Given the description of an element on the screen output the (x, y) to click on. 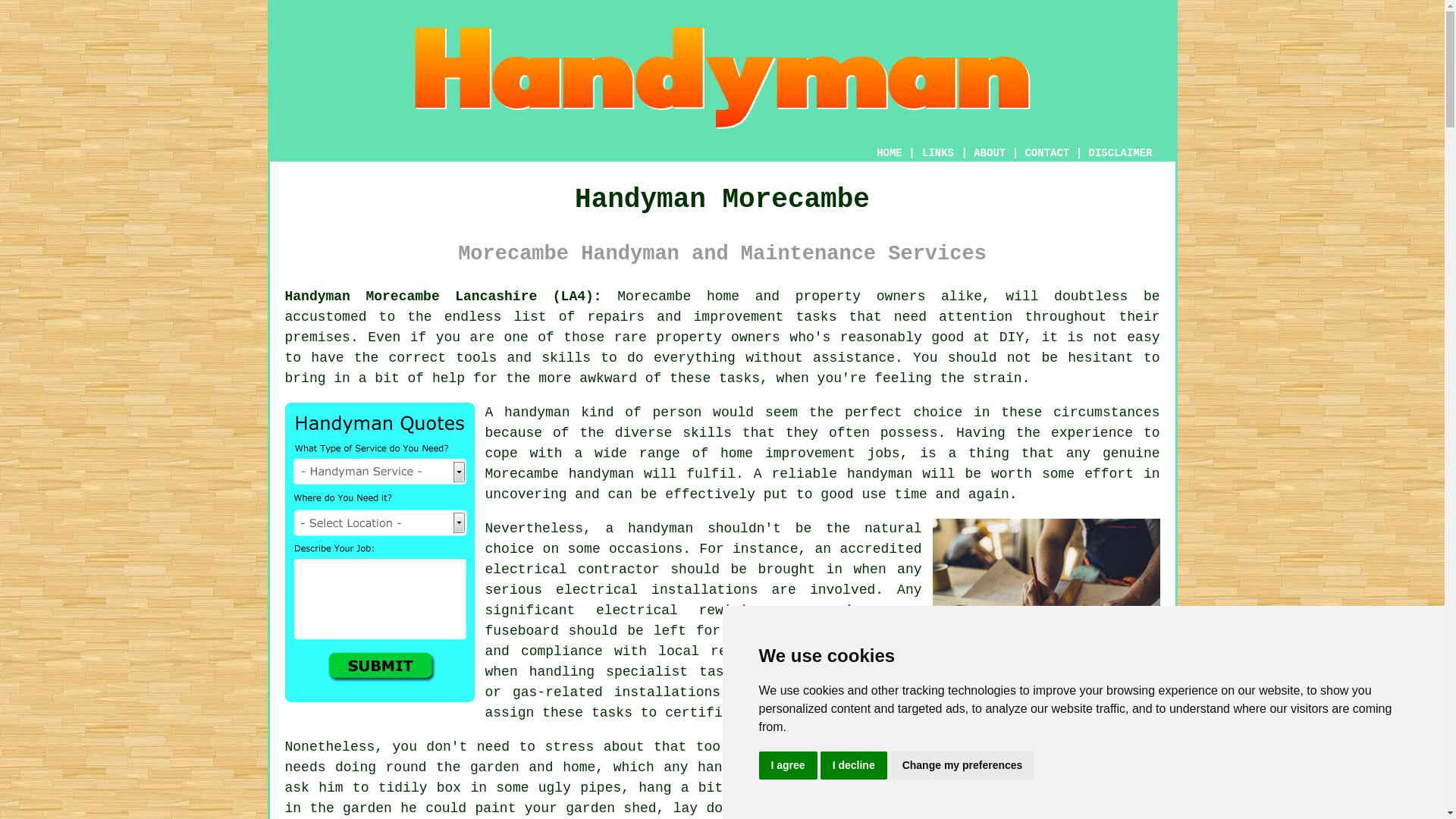
I decline (853, 765)
LINKS (938, 152)
I agree (787, 765)
Change my preferences (962, 765)
HOME (889, 152)
